Given the description of an element on the screen output the (x, y) to click on. 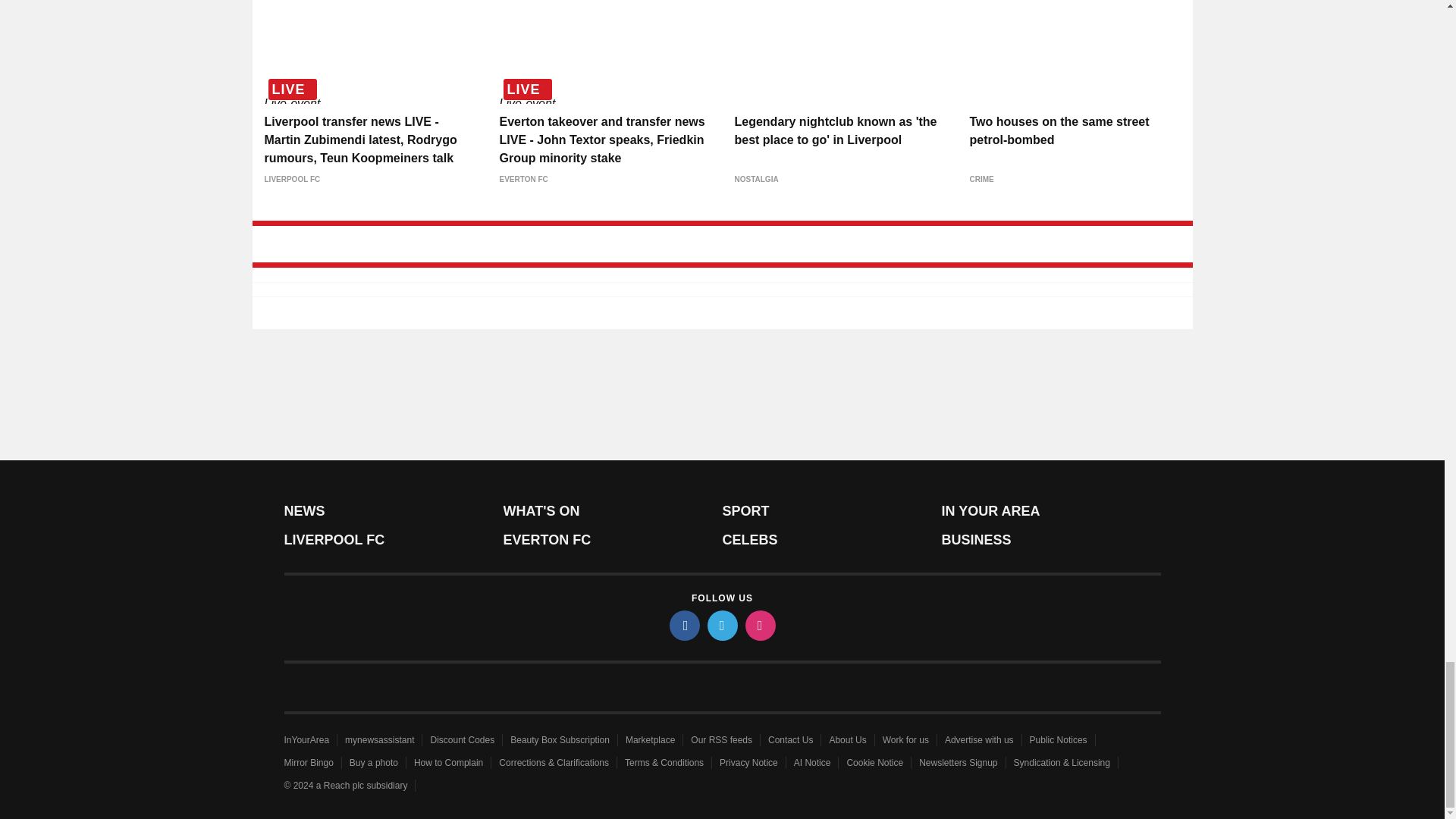
twitter (721, 625)
facebook (683, 625)
instagram (759, 625)
